Given the description of an element on the screen output the (x, y) to click on. 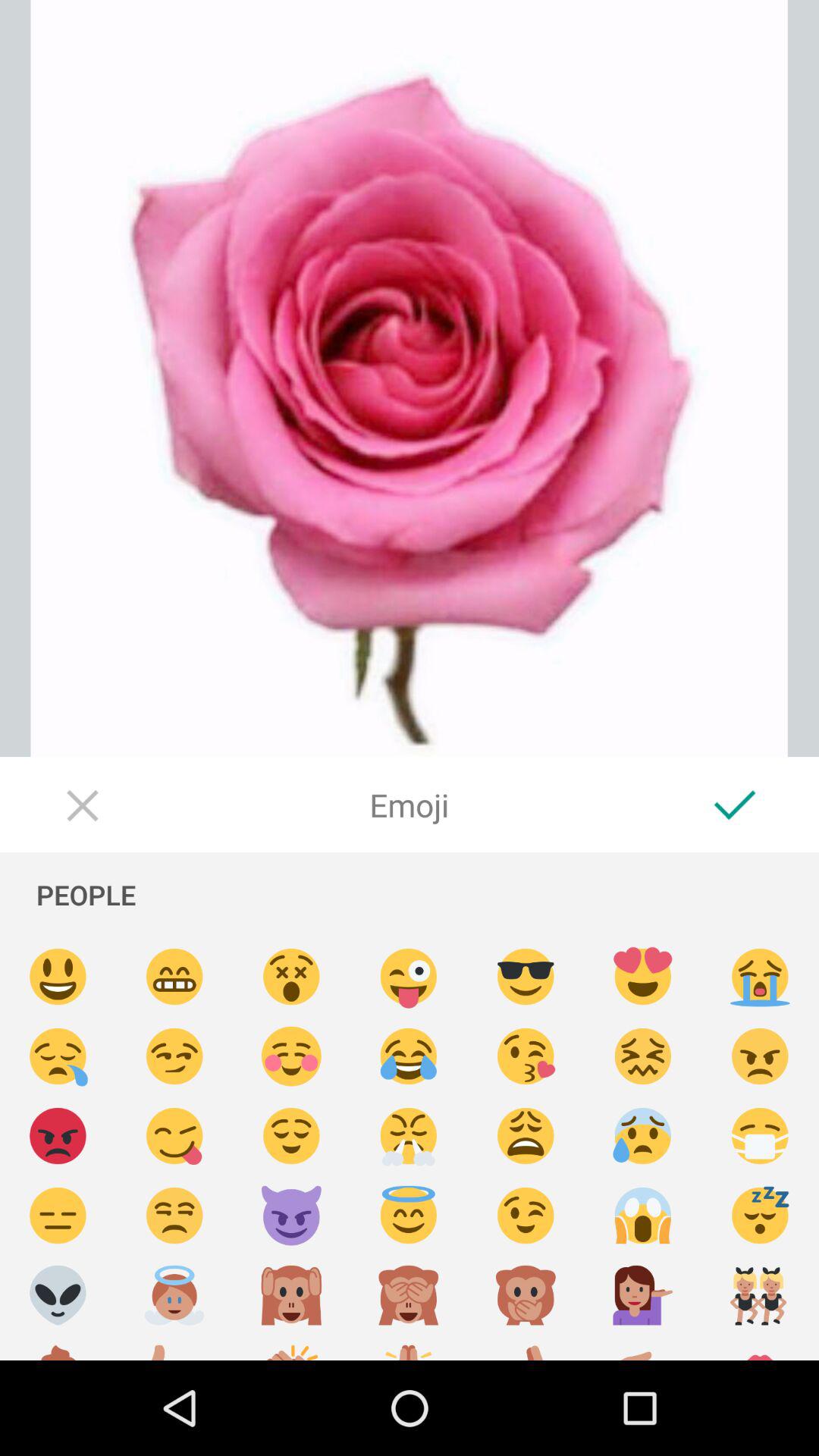
angel emoji (408, 1215)
